Given the description of an element on the screen output the (x, y) to click on. 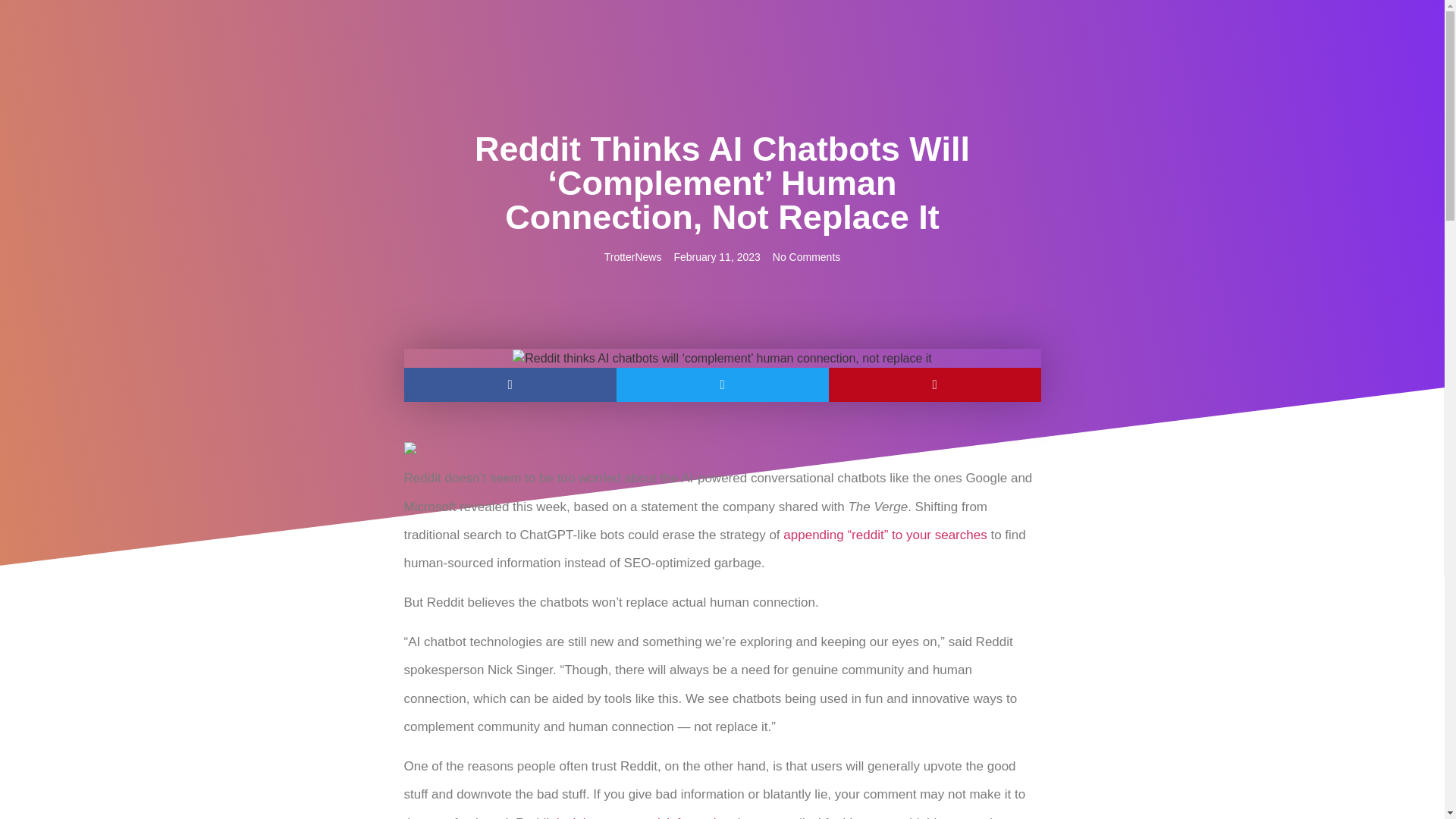
to misinformation (680, 817)
TrotterNews (633, 257)
No Comments (806, 257)
February 11, 2023 (716, 257)
